Given the description of an element on the screen output the (x, y) to click on. 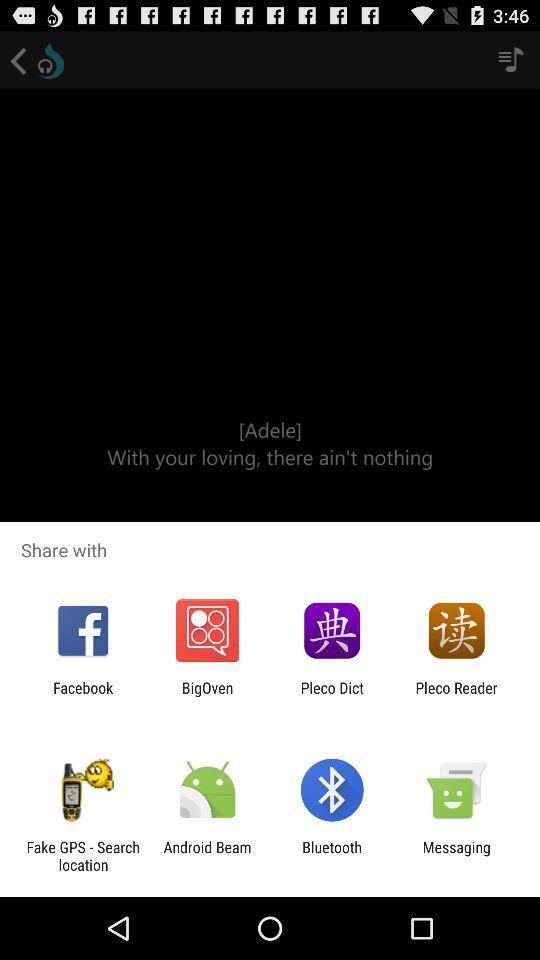
open app next to fake gps search item (207, 856)
